Given the description of an element on the screen output the (x, y) to click on. 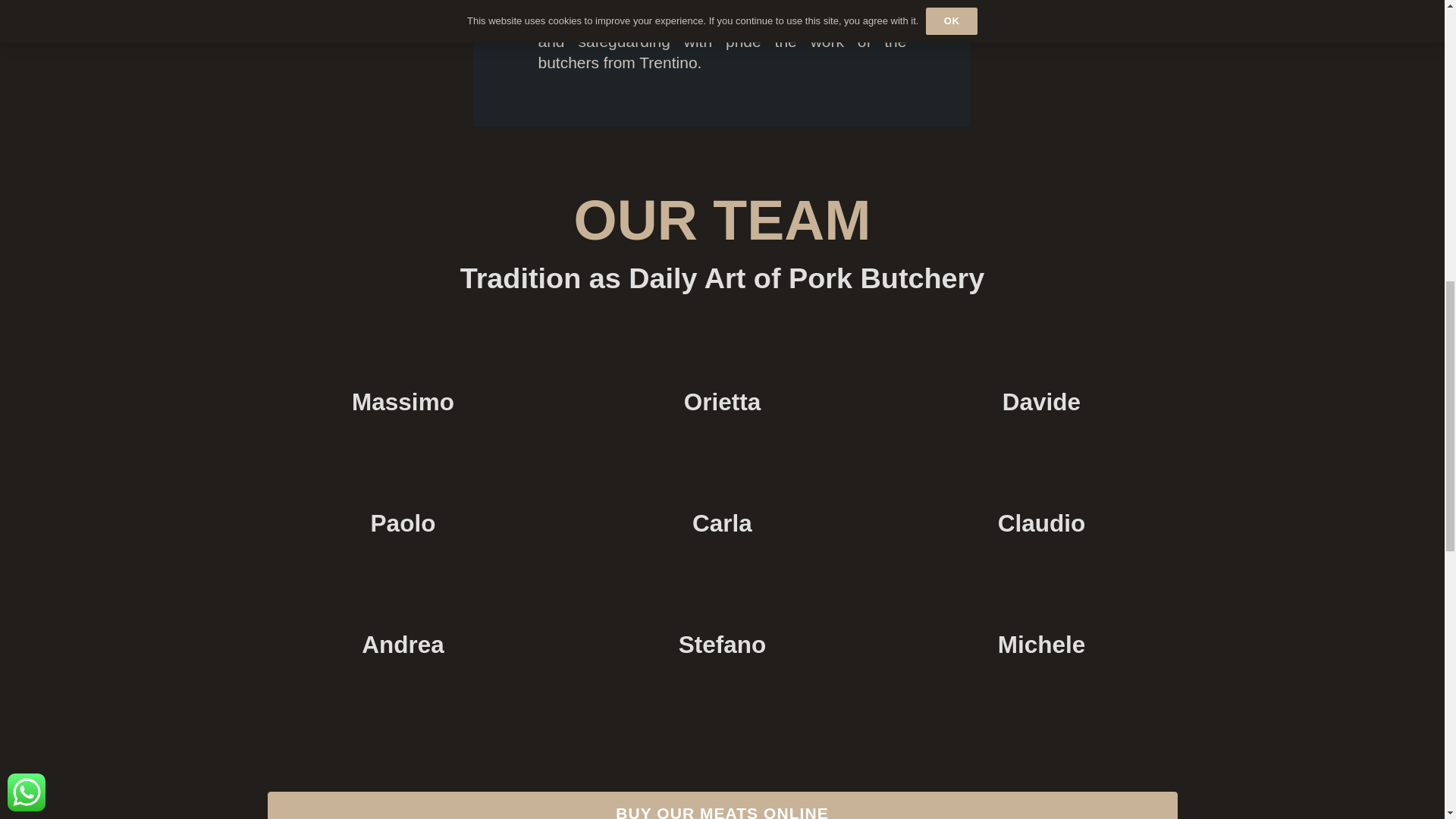
Back to top (1413, 26)
BUY OUR MEATS ONLINE (721, 805)
